Given the description of an element on the screen output the (x, y) to click on. 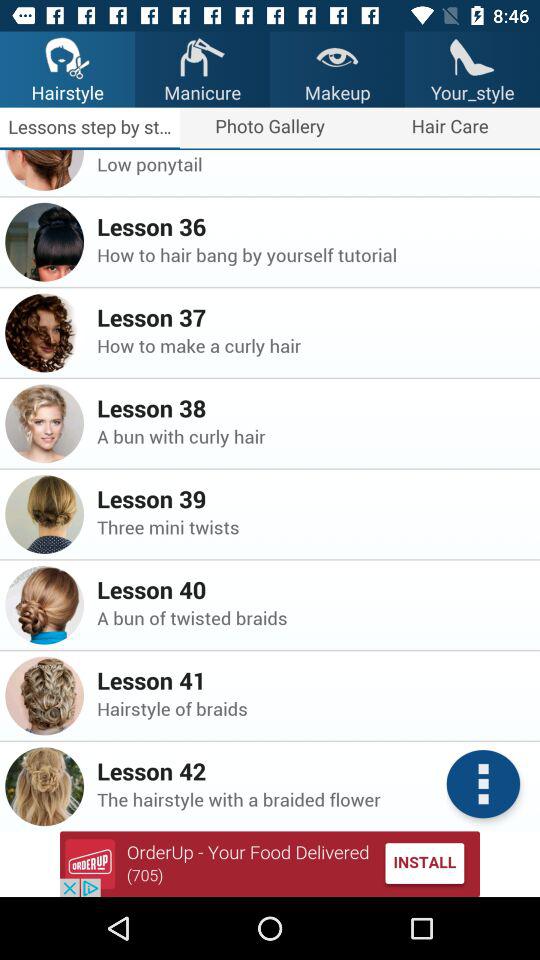
swipe until lesson 36 item (311, 226)
